Given the description of an element on the screen output the (x, y) to click on. 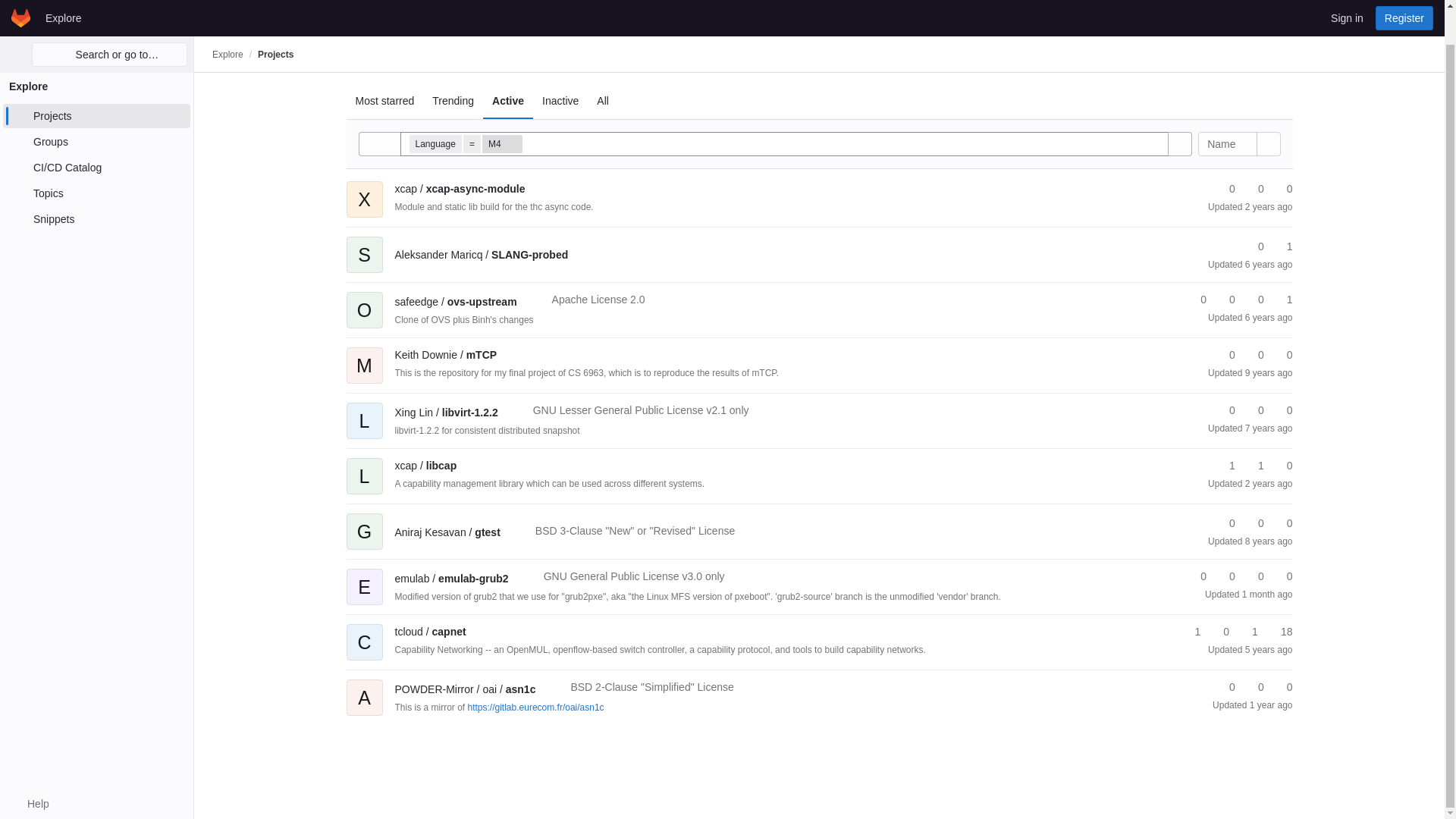
Active (507, 100)
xcap-async-module (459, 188)
ovs-upstream (455, 301)
Stars (1224, 188)
X (363, 188)
Clear (1155, 144)
Projects (275, 18)
Forks (1282, 246)
Trending (453, 100)
Name (1227, 143)
